Given the description of an element on the screen output the (x, y) to click on. 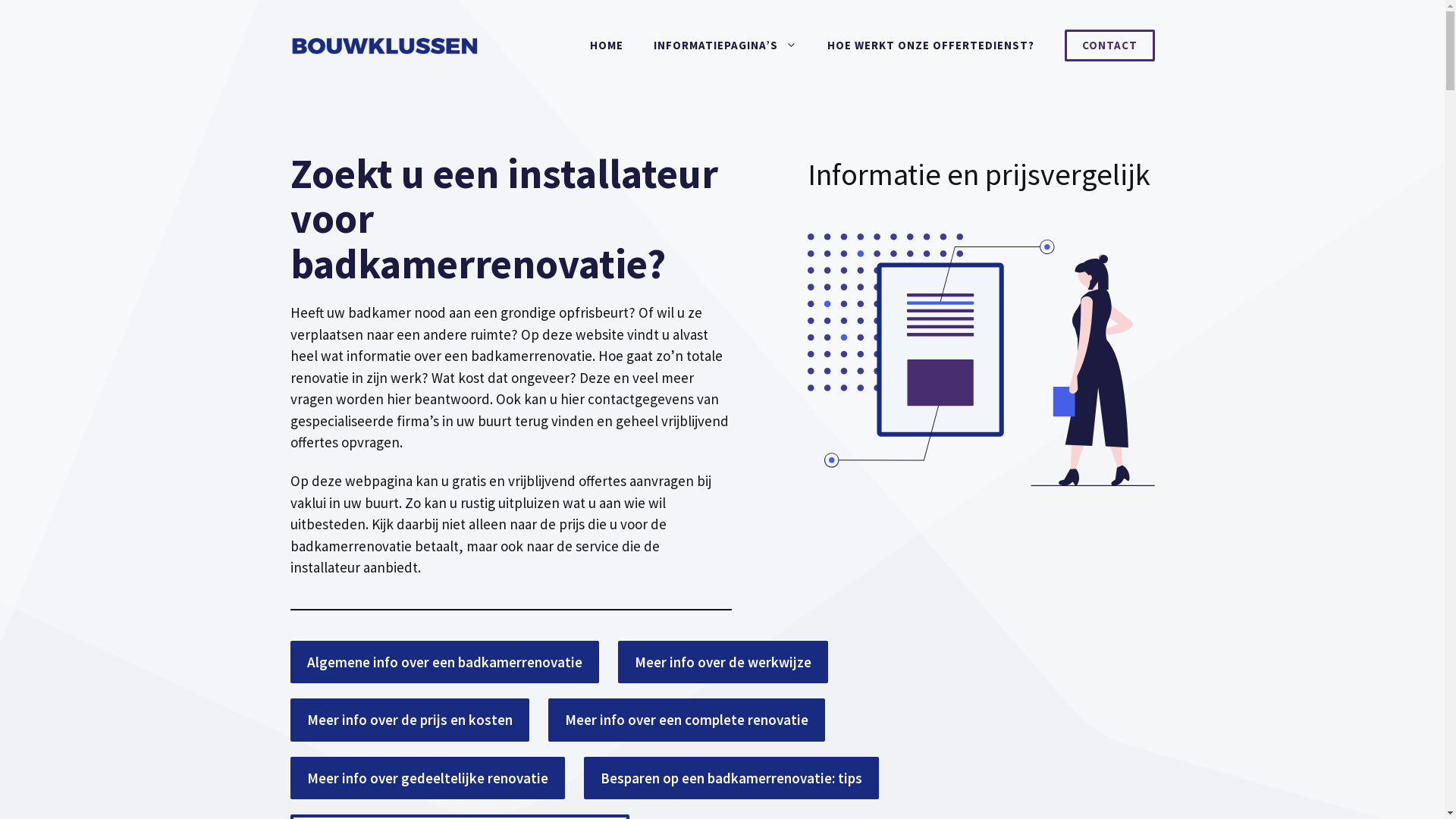
HOME Element type: text (606, 45)
Besparen op een badkamerrenovatie: tips Element type: text (730, 778)
Meer info over gedeeltelijke renovatie Element type: text (426, 778)
HOE WERKT ONZE OFFERTEDIENST? Element type: text (929, 45)
CONTACT Element type: text (1109, 45)
Meer info over de prijs en kosten Element type: text (408, 719)
Meer info over de werkwijze Element type: text (722, 662)
Algemene info over een badkamerrenovatie Element type: text (443, 662)
Meer info over een complete renovatie Element type: text (685, 719)
